Given the description of an element on the screen output the (x, y) to click on. 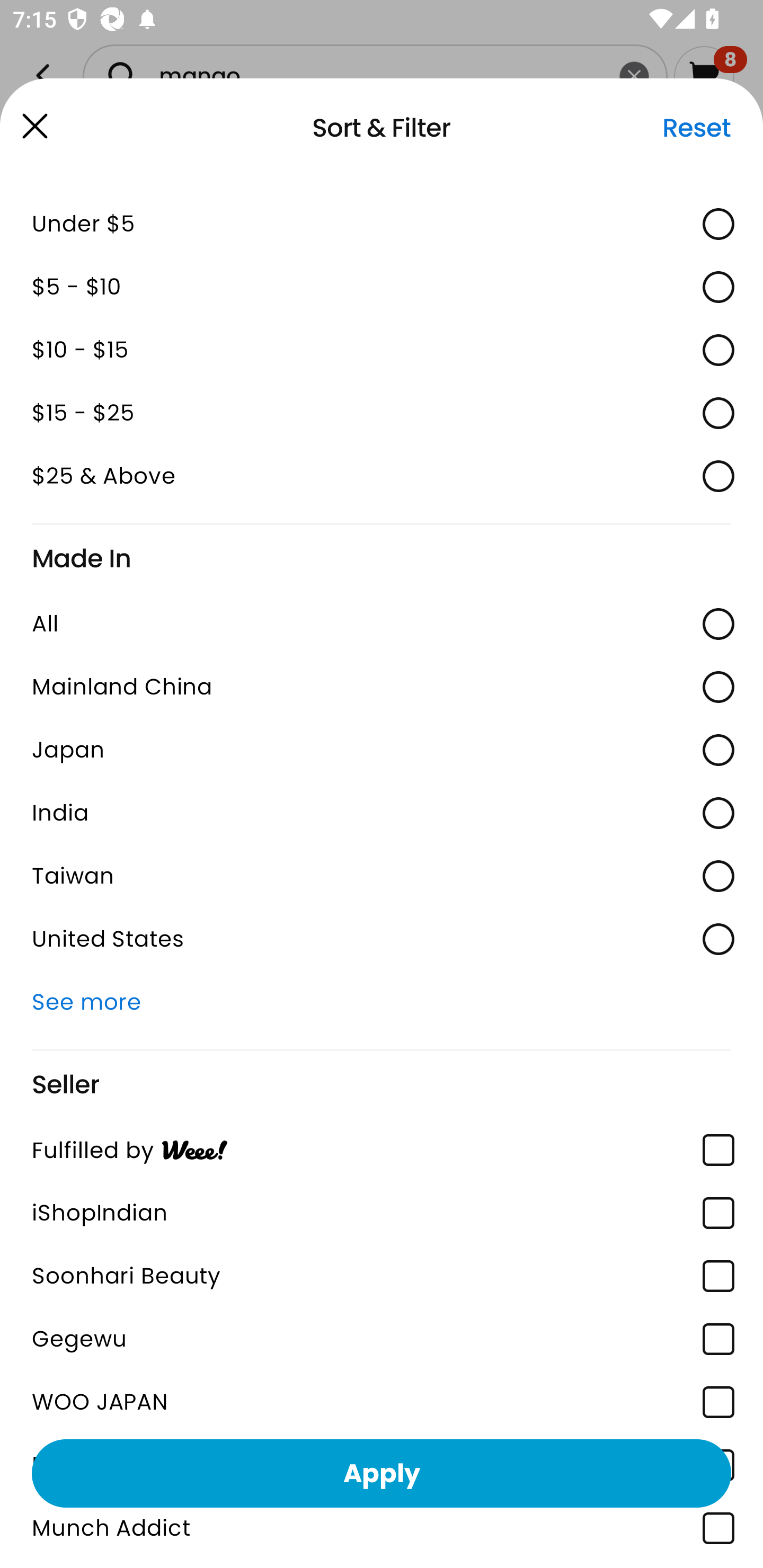
Reset (696, 127)
See more (381, 1001)
Apply (381, 1472)
